Given the description of an element on the screen output the (x, y) to click on. 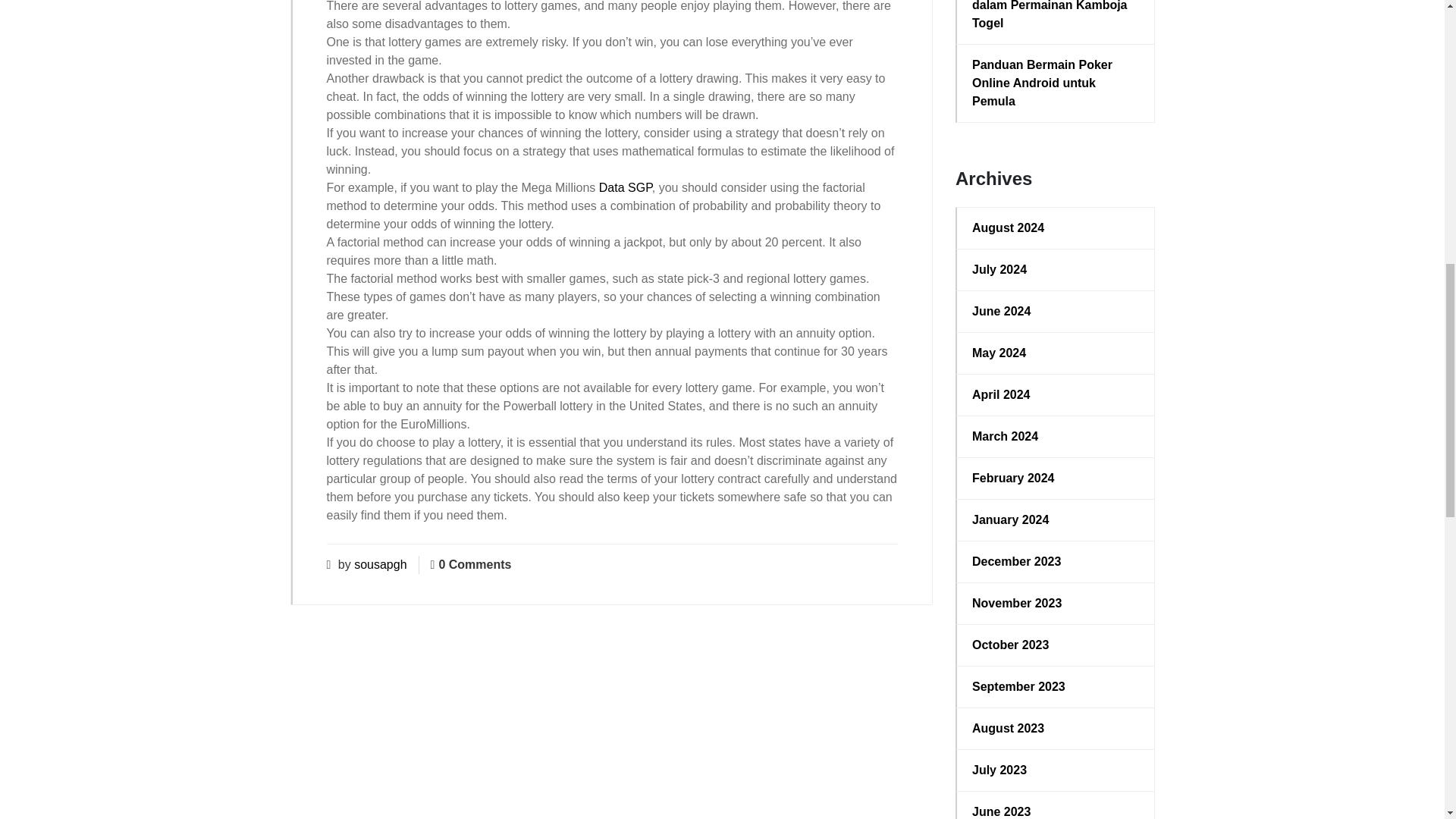
December 2023 (1055, 561)
October 2023 (1055, 645)
sousapgh (379, 563)
January 2024 (1055, 520)
April 2024 (1055, 394)
August 2023 (1055, 728)
September 2023 (1055, 687)
November 2023 (1055, 603)
February 2024 (1055, 478)
July 2024 (1055, 270)
